Given the description of an element on the screen output the (x, y) to click on. 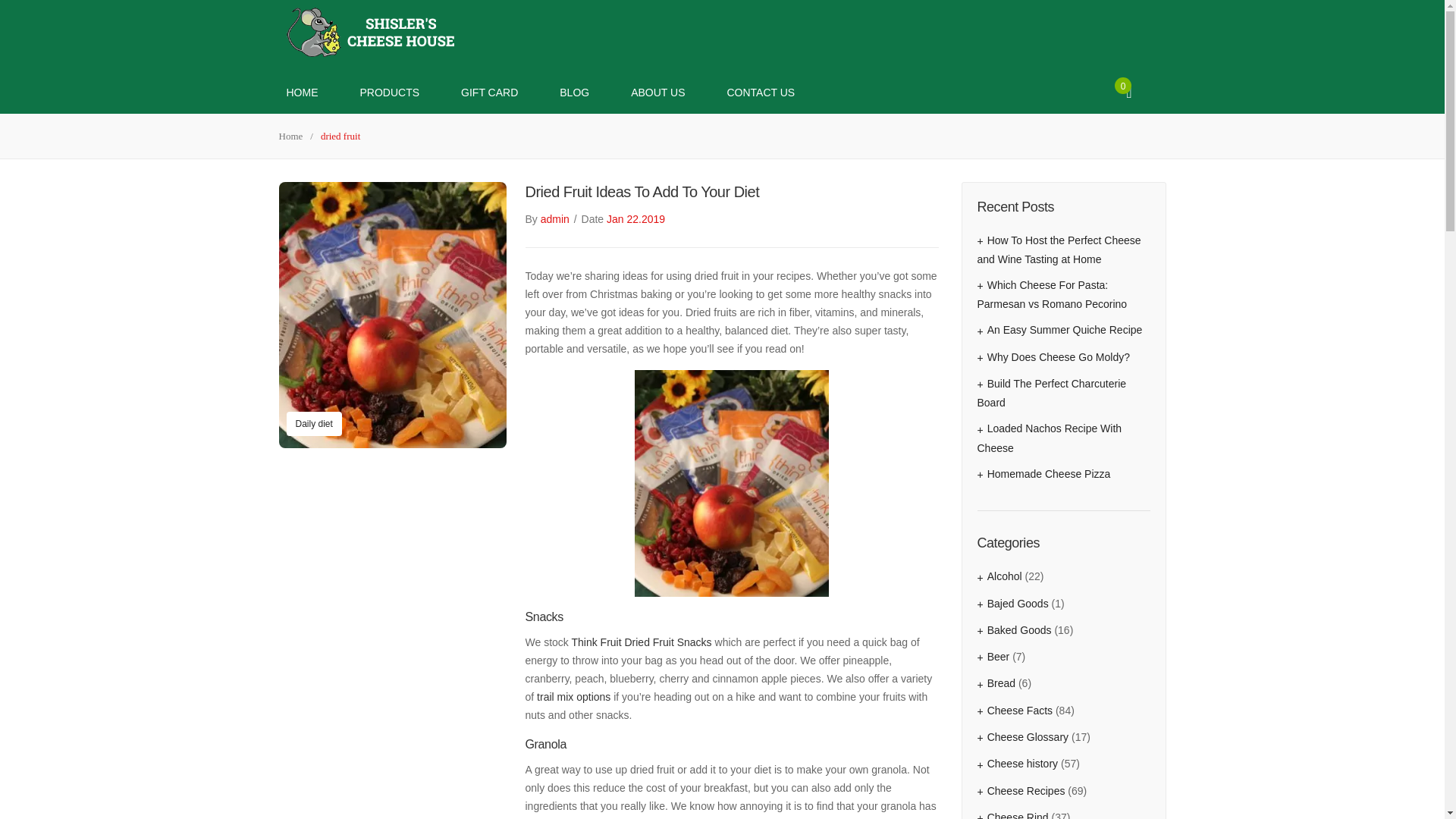
PRODUCTS (389, 92)
GIFT CARD (489, 92)
CONTACT US (760, 92)
ABOUT US (657, 92)
Shislers Cheese House (371, 30)
